Given the description of an element on the screen output the (x, y) to click on. 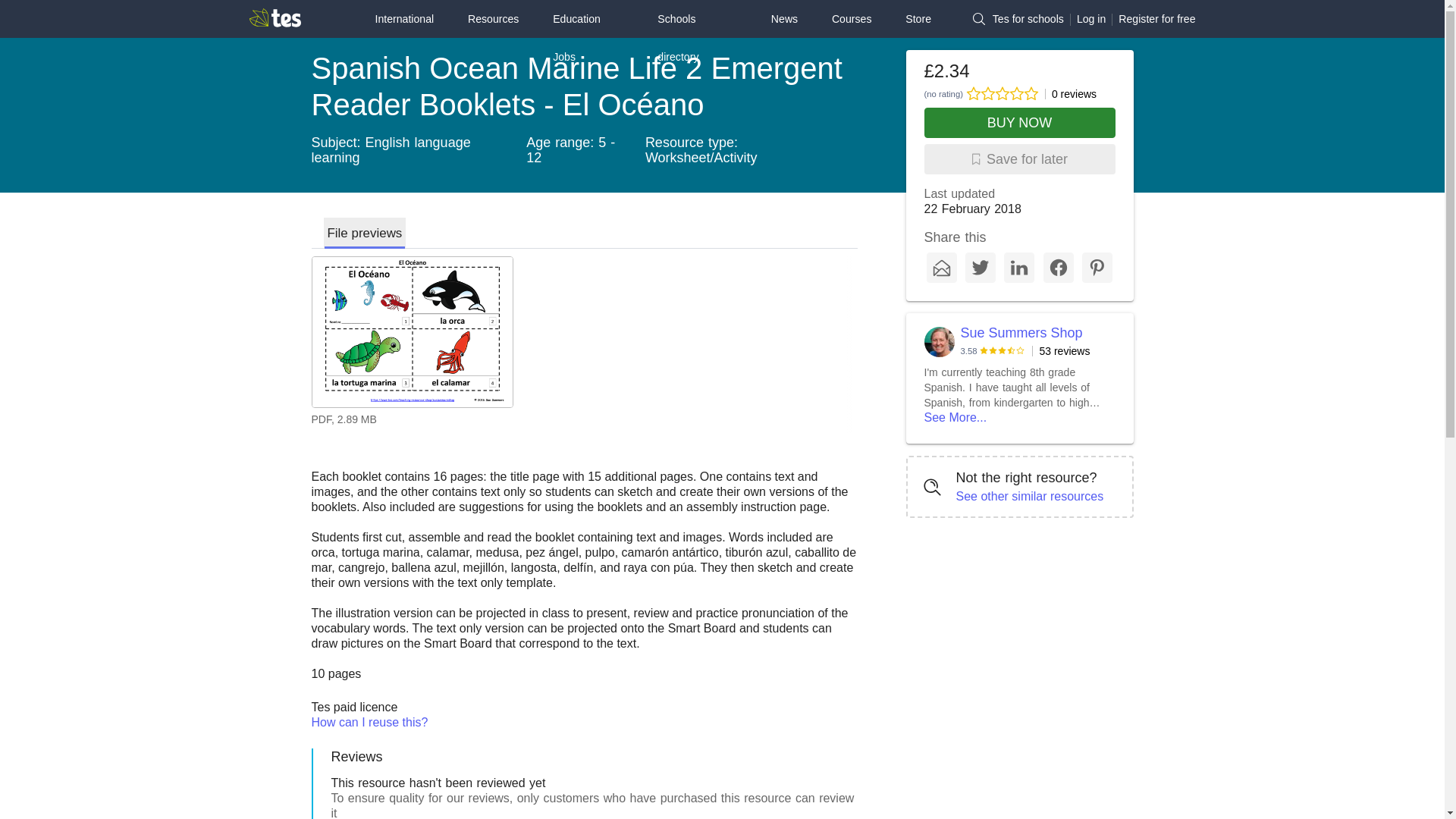
International (403, 18)
PDF, 2.89 MB (584, 344)
Register for free (1156, 19)
Resources (492, 18)
Tes for schools (1028, 19)
Log in (1091, 19)
Education Jobs (588, 38)
Schools directory (697, 38)
Courses (851, 18)
